Given the description of an element on the screen output the (x, y) to click on. 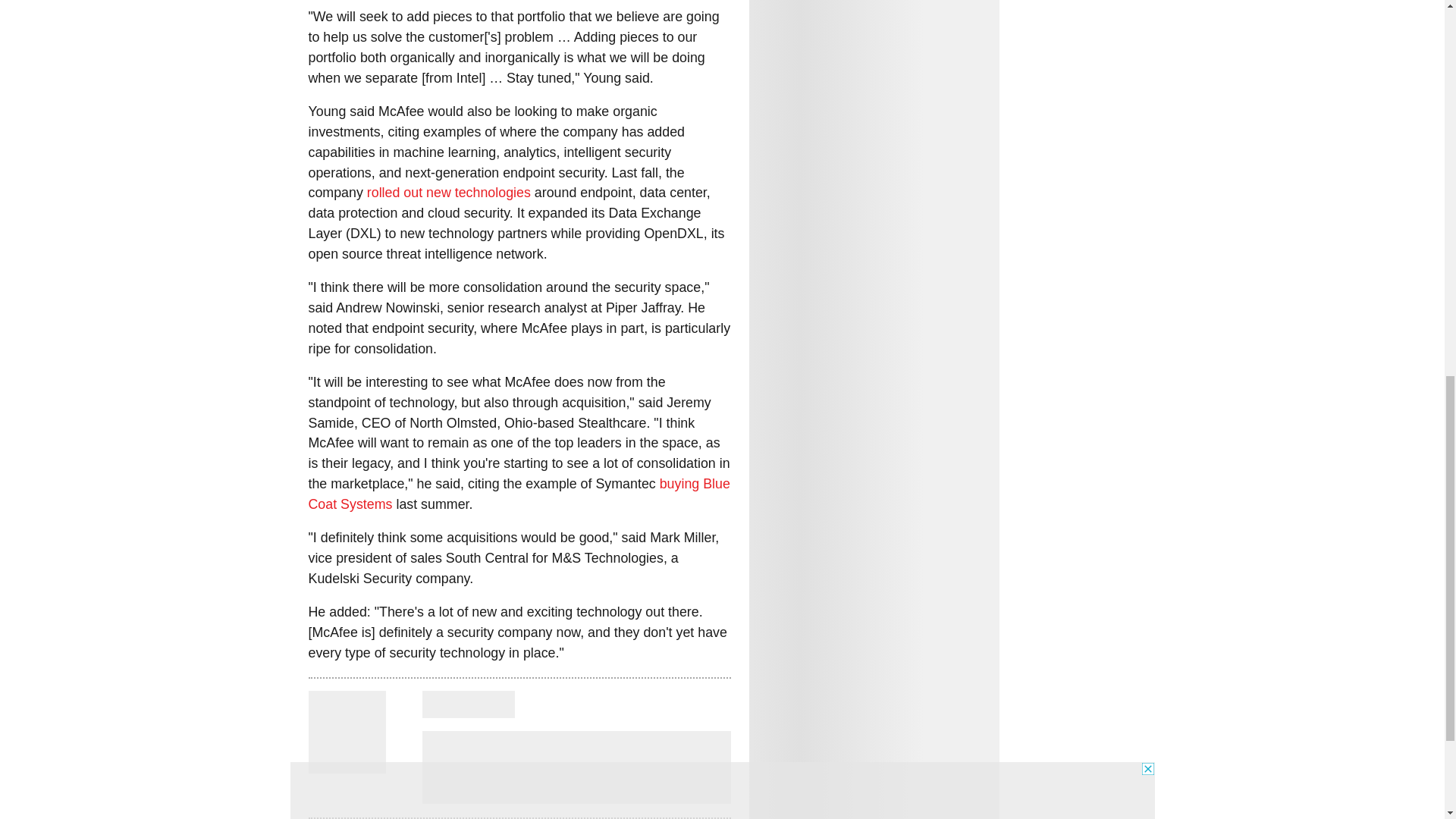
buying Blue Coat Systems (518, 493)
rolled out new technologies (448, 192)
AUTHOR NAME (467, 704)
Author Name (346, 763)
Author Name (467, 704)
rolled out new technologies (448, 192)
buying Blue Coat Systems (518, 493)
